Given the description of an element on the screen output the (x, y) to click on. 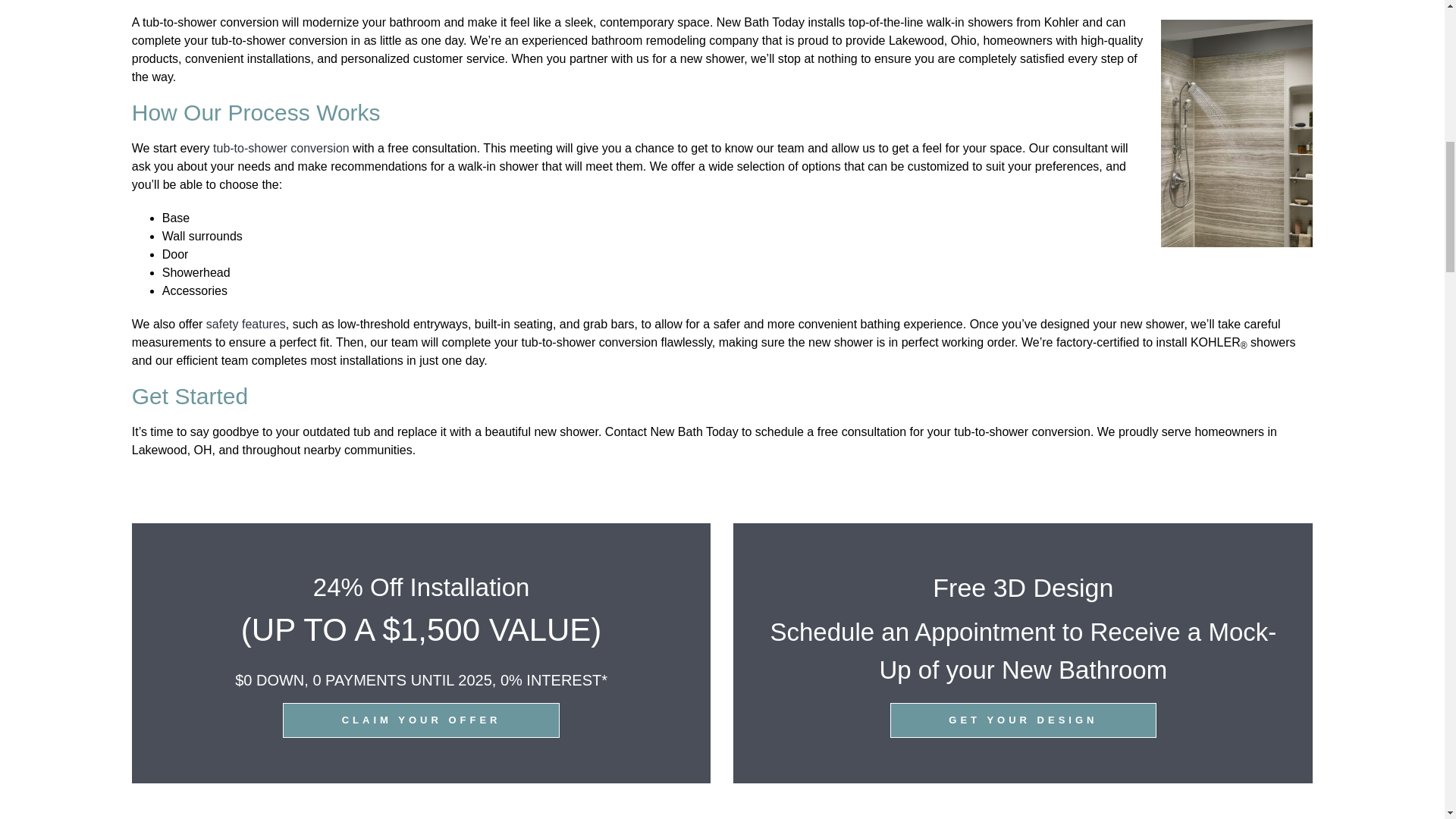
safety features (245, 323)
CLAIM YOUR OFFER (420, 719)
GET YOUR DESIGN (1023, 719)
tub-to-shower conversion (280, 147)
